Given the description of an element on the screen output the (x, y) to click on. 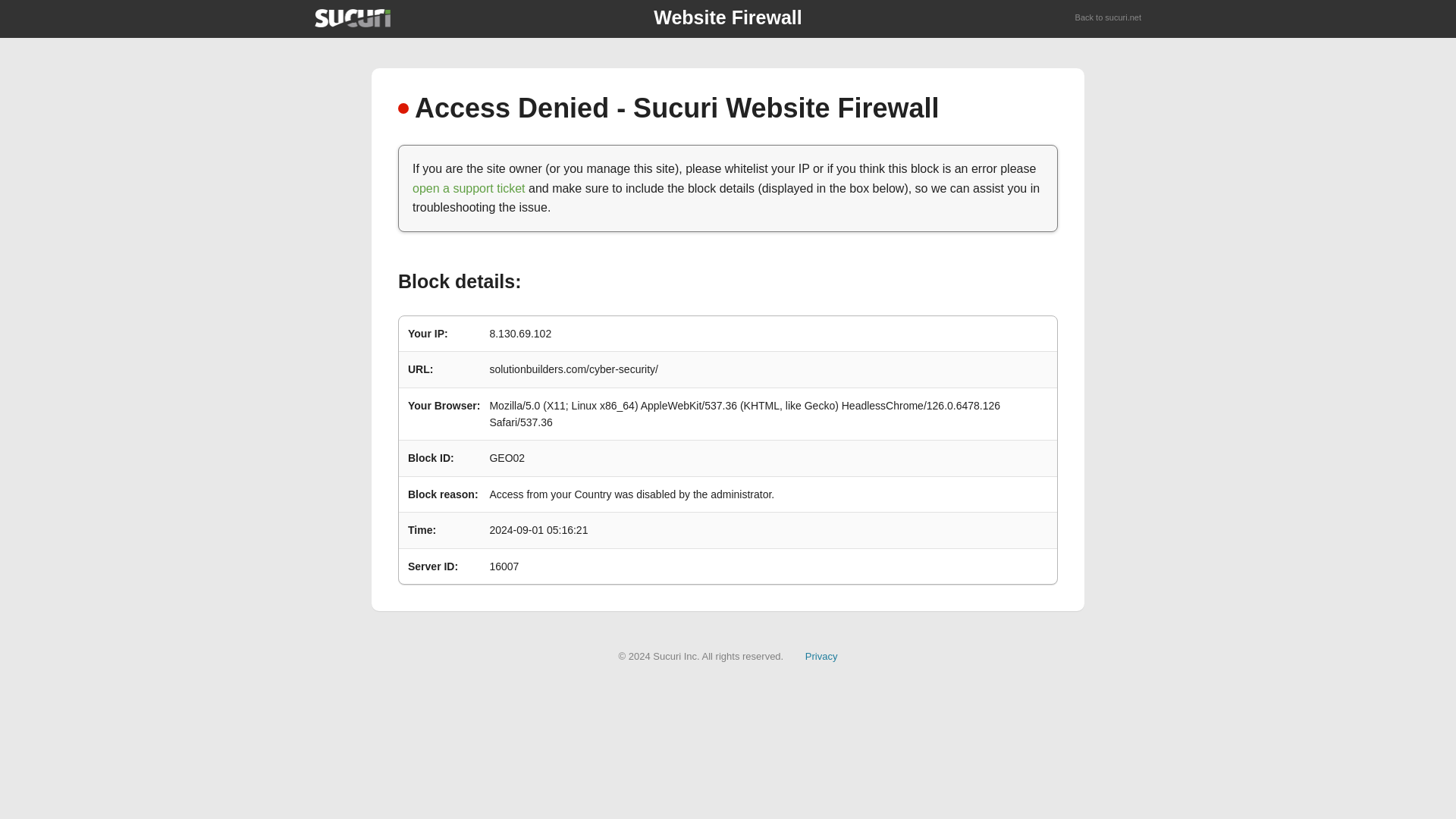
Back to sucuri.net (1108, 18)
Privacy (821, 655)
open a support ticket (468, 187)
